Given the description of an element on the screen output the (x, y) to click on. 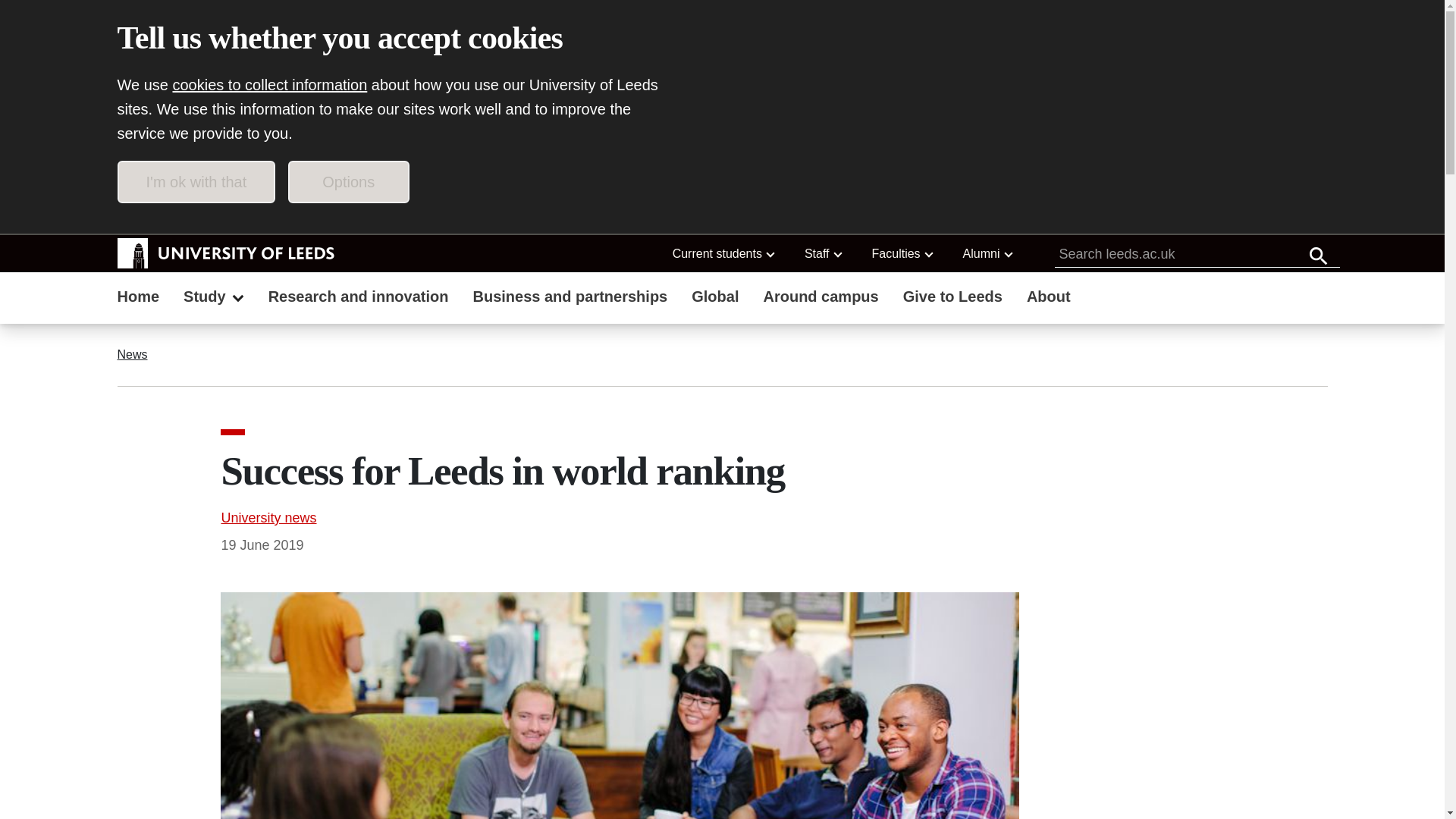
Faculties (902, 253)
Alumni (986, 253)
Study (213, 297)
Staff (822, 253)
Home (137, 297)
Skip to main content (202, 216)
Options (348, 181)
Research and innovation (358, 297)
Global (715, 297)
cookies to collect information (270, 84)
Business and partnerships (569, 297)
I'm ok with that (195, 181)
Current students (723, 253)
